Given the description of an element on the screen output the (x, y) to click on. 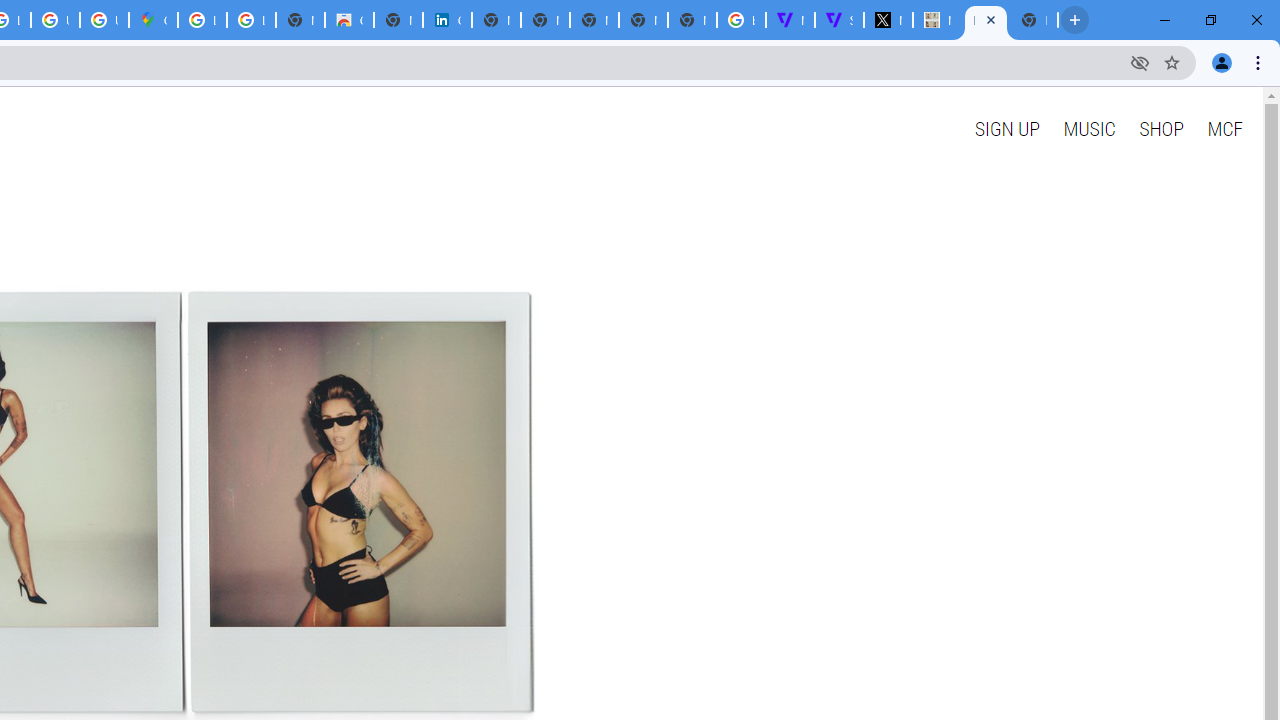
Cookie Policy | LinkedIn (447, 20)
SHOP (1161, 128)
Miley Cyrus (@MileyCyrus) / X (888, 20)
Google Maps (153, 20)
MILEY CYRUS. (937, 20)
Chrome Web Store (349, 20)
New Tab (692, 20)
